Given the description of an element on the screen output the (x, y) to click on. 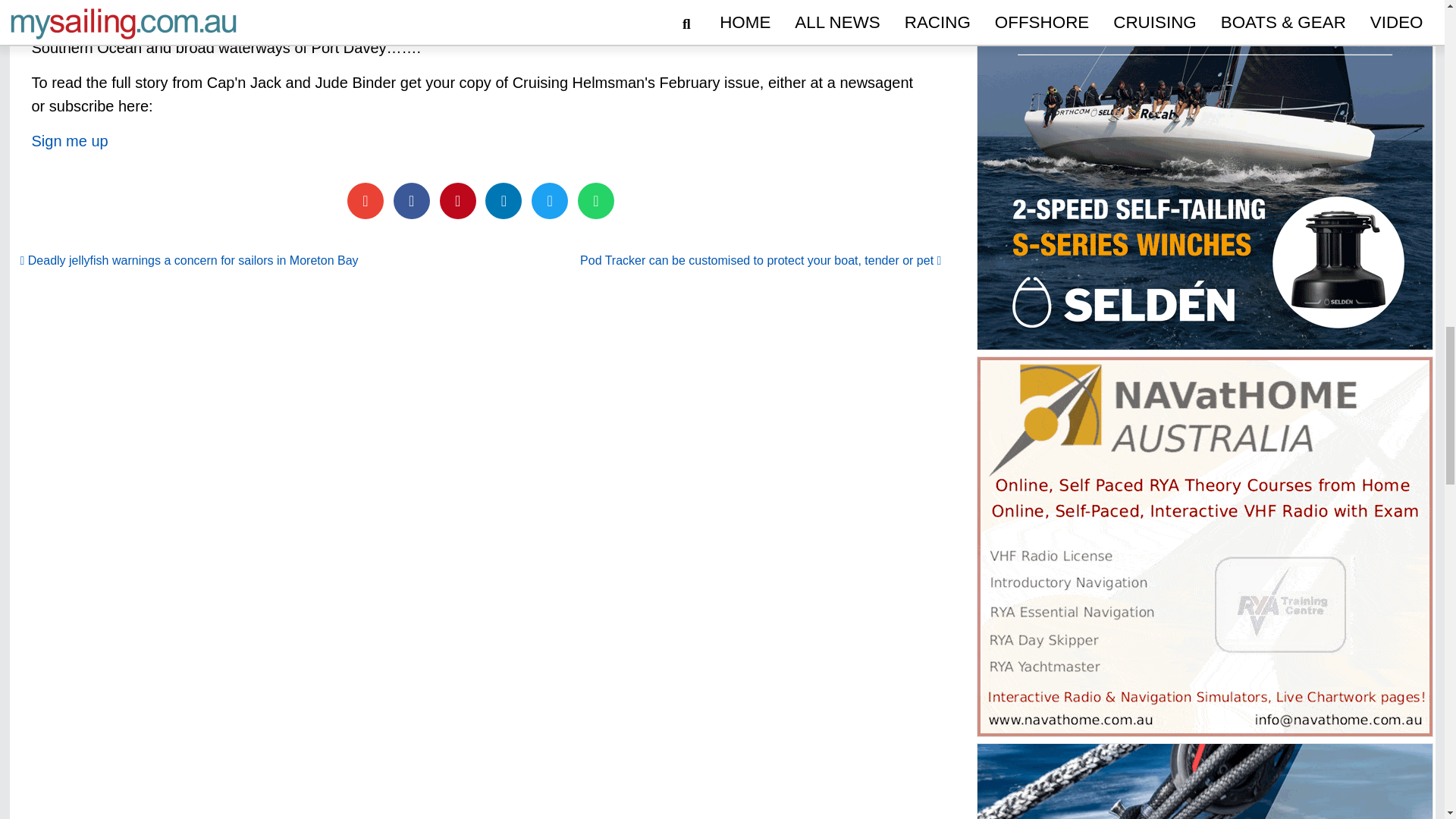
Share by Email (365, 200)
Sign me up (69, 140)
